Given the description of an element on the screen output the (x, y) to click on. 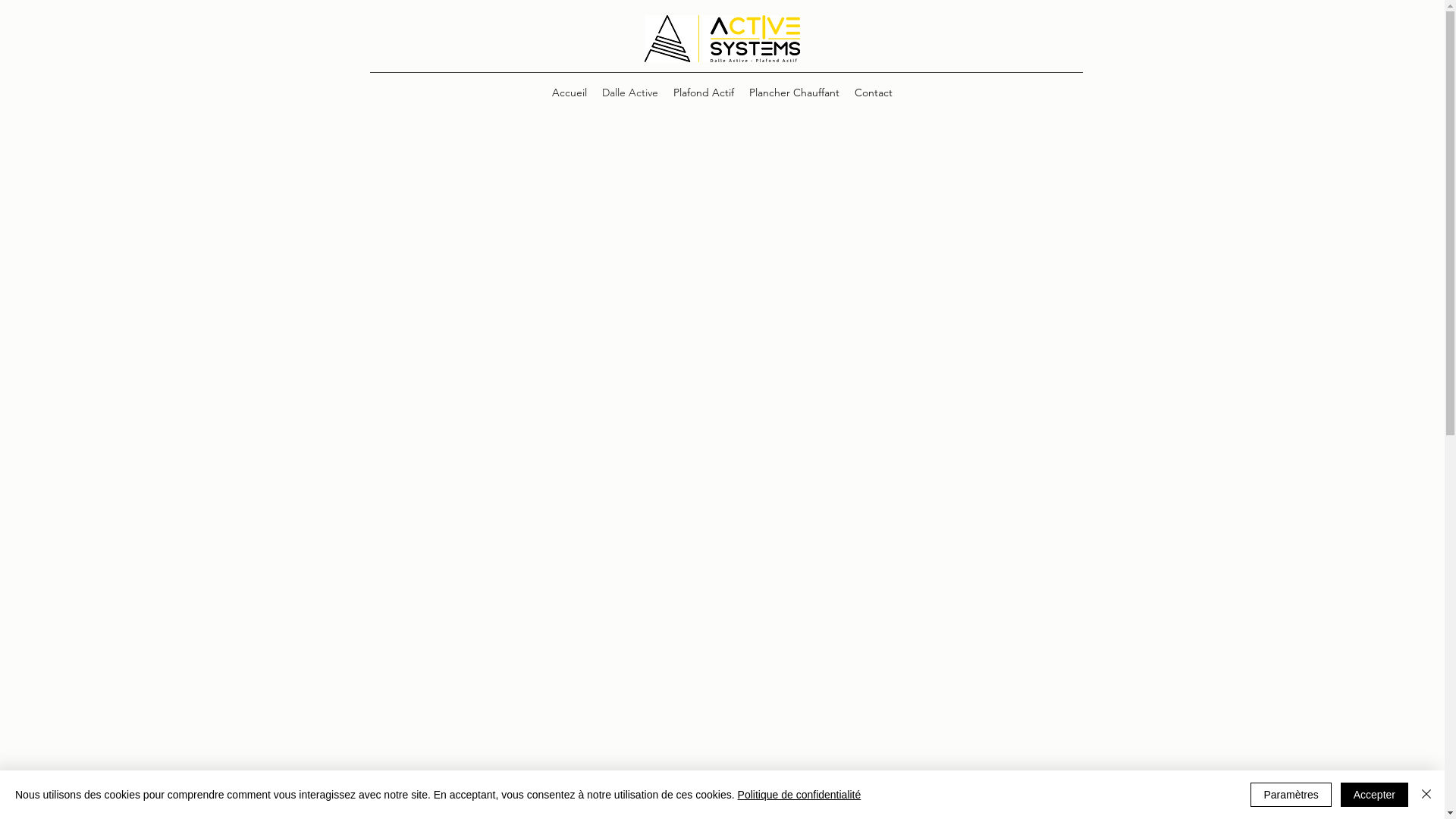
Plafond Actif Element type: text (703, 92)
Plancher Chauffant Element type: text (794, 92)
Contact Element type: text (873, 92)
Dalle Active Element type: text (629, 92)
Accueil Element type: text (569, 92)
Accepter Element type: text (1374, 794)
